Given the description of an element on the screen output the (x, y) to click on. 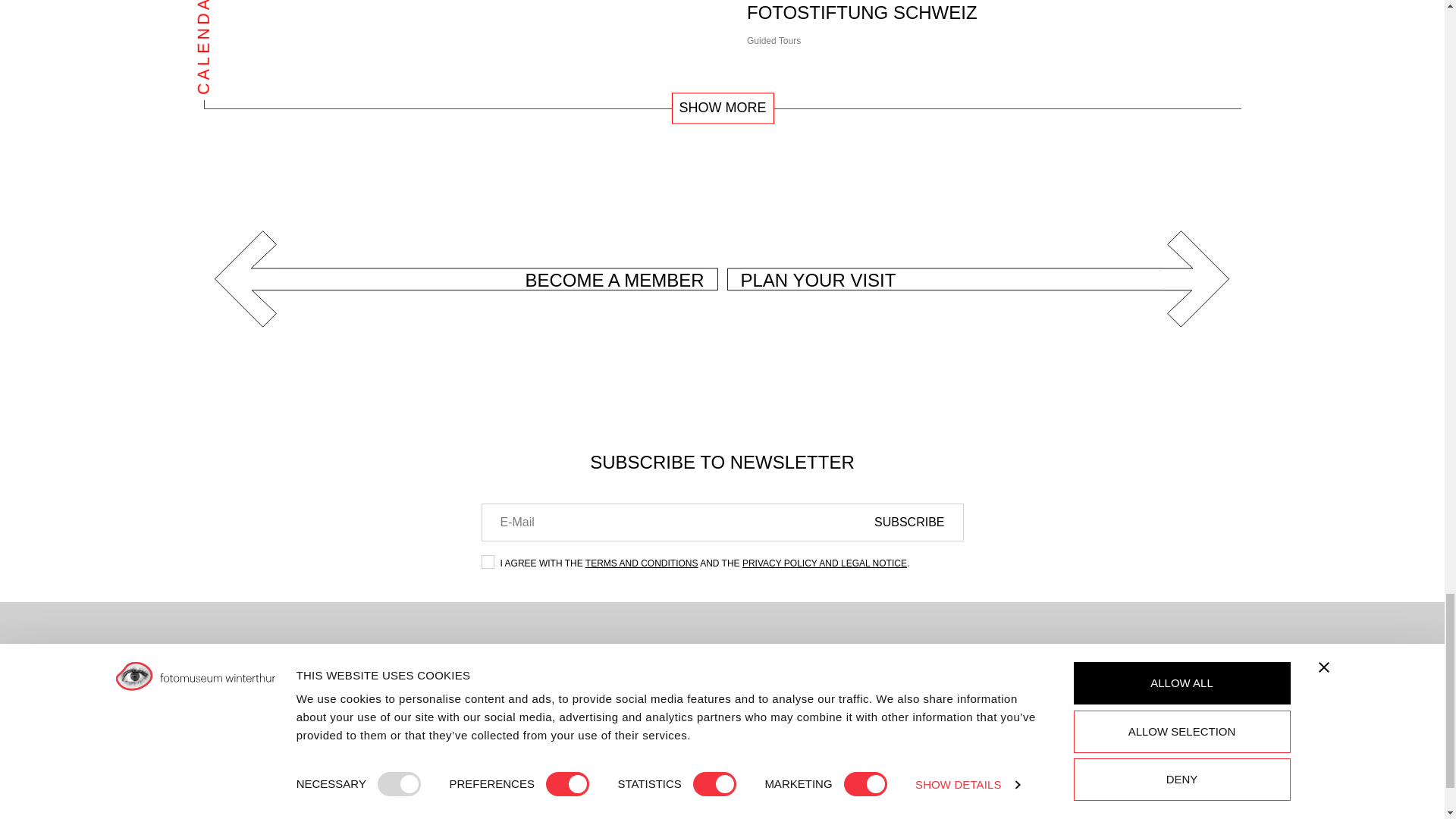
newsletter (487, 561)
